Given the description of an element on the screen output the (x, y) to click on. 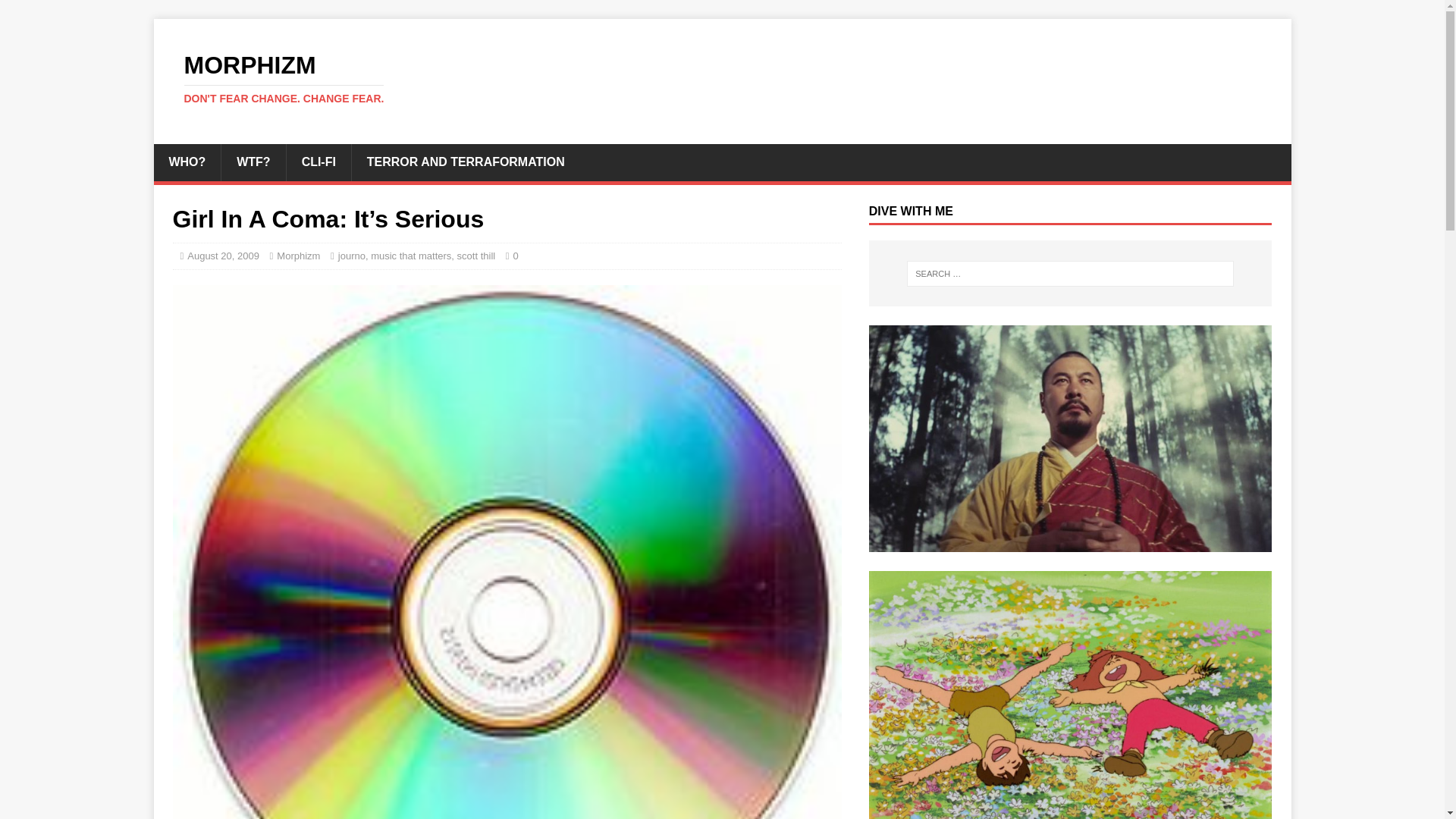
morphizm (721, 78)
scott thill (476, 255)
Morphizm (298, 255)
WHO? (186, 162)
WTF? (253, 162)
journo (351, 255)
TERROR AND TERRAFORMATION (464, 162)
Search (721, 78)
CLI-FI (56, 11)
